Given the description of an element on the screen output the (x, y) to click on. 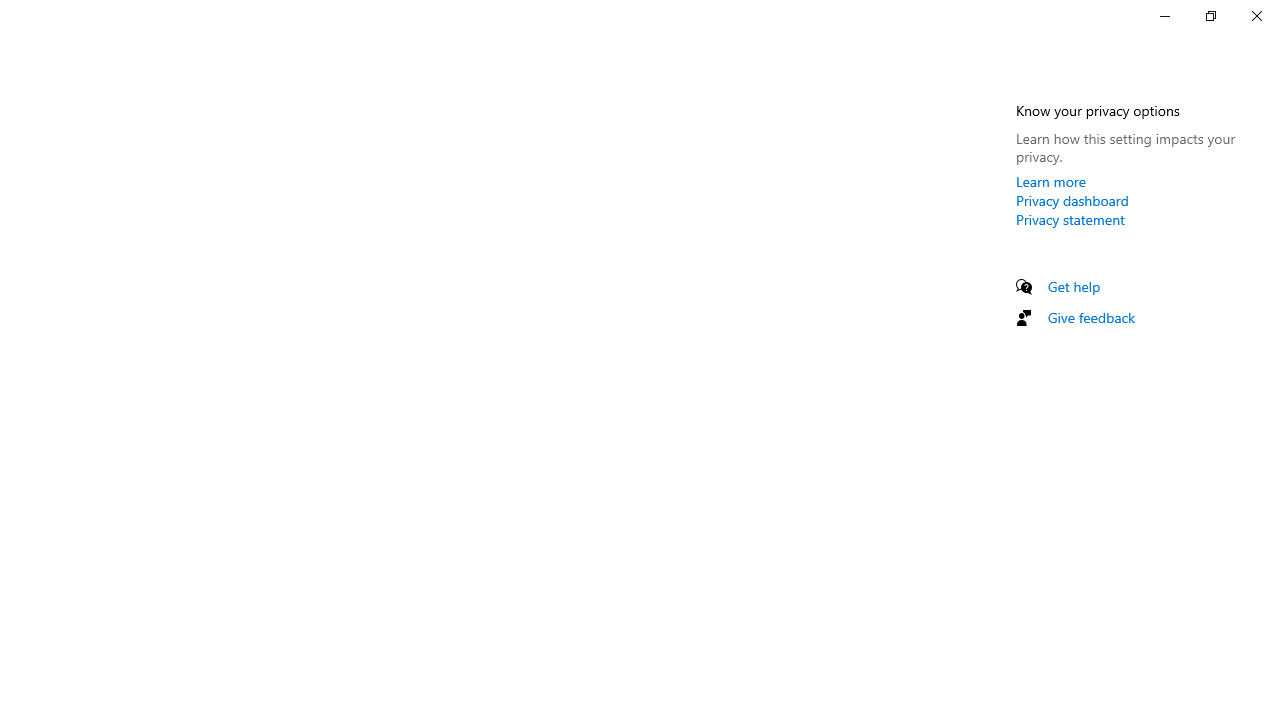
Privacy dashboard (1072, 200)
Learn more (1051, 181)
Privacy statement (1070, 219)
Get help (1074, 286)
Give feedback (1091, 317)
